Given the description of an element on the screen output the (x, y) to click on. 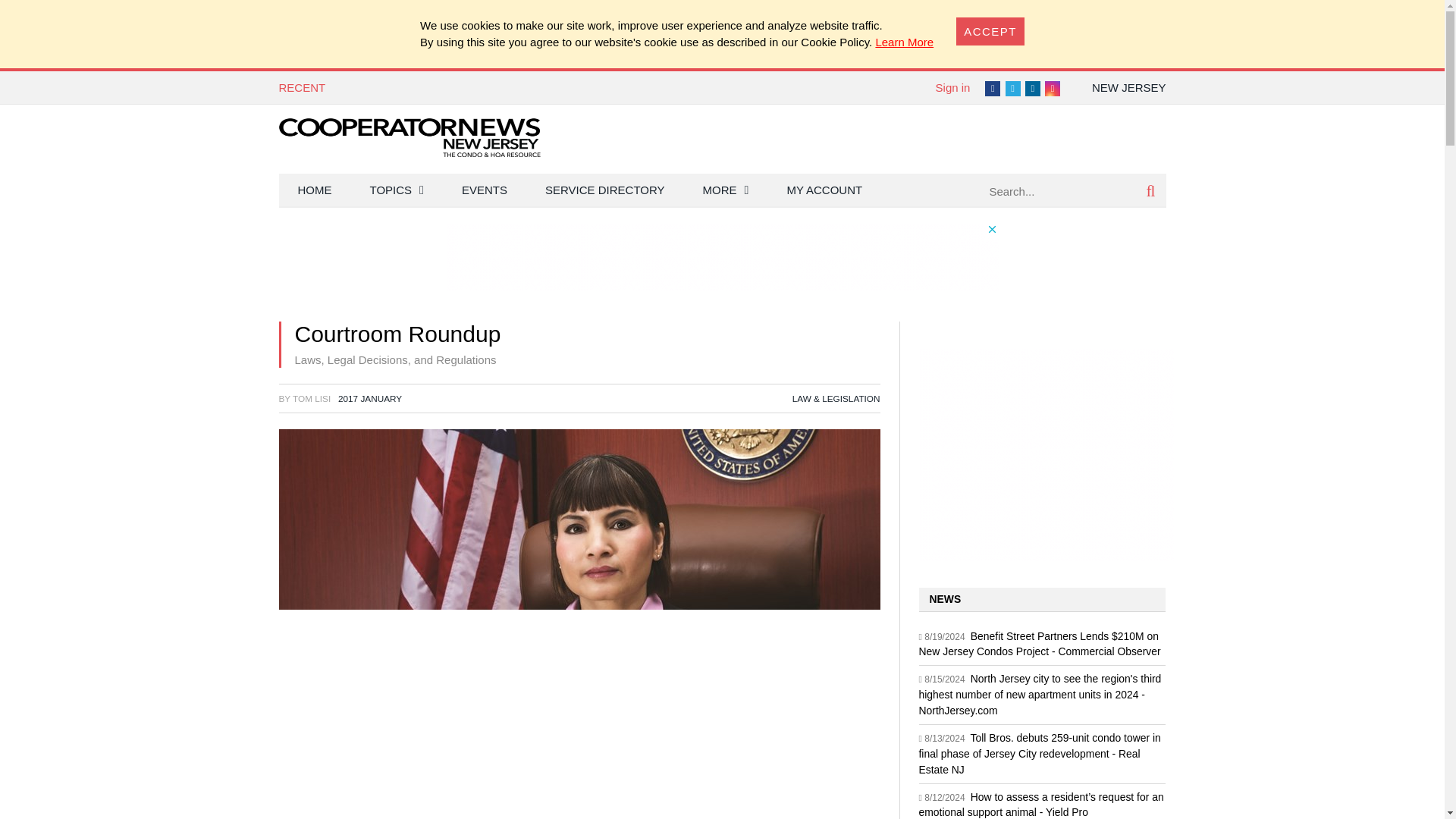
3rd party ad content (721, 256)
Learn More (904, 42)
Sign in (953, 87)
NEW JERSEY (1129, 87)
ACCEPT (990, 30)
HOME (314, 190)
LinkedIn (1033, 88)
Facebook (992, 88)
Instagram (1052, 88)
Facebook (992, 88)
